Given the description of an element on the screen output the (x, y) to click on. 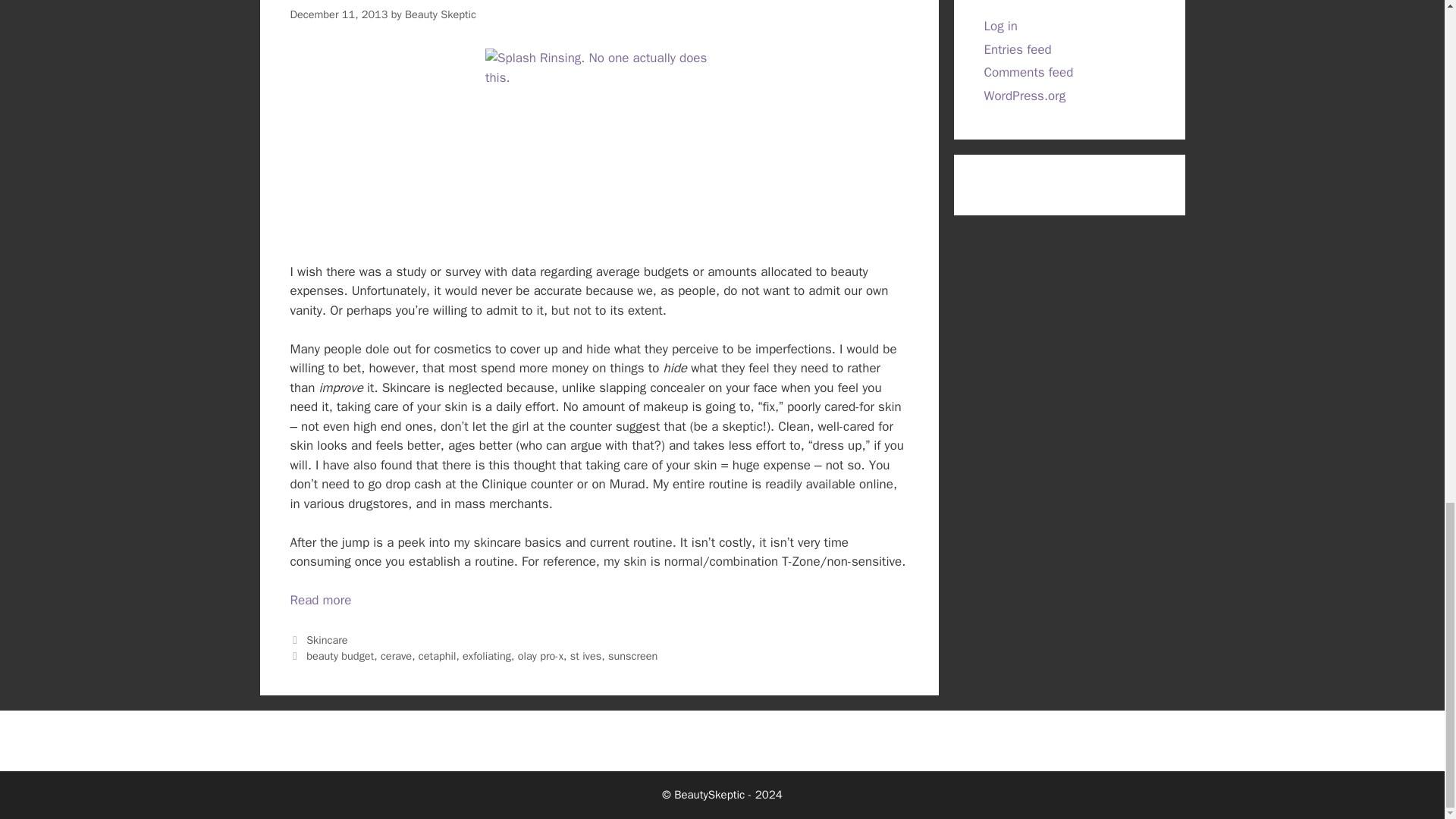
Skincare (326, 640)
olay pro-x (540, 655)
cetaphil (438, 655)
Skincare Basics (319, 600)
st ives (586, 655)
cerave (396, 655)
sunscreen (633, 655)
Read more (319, 600)
beauty budget (339, 655)
